Given the description of an element on the screen output the (x, y) to click on. 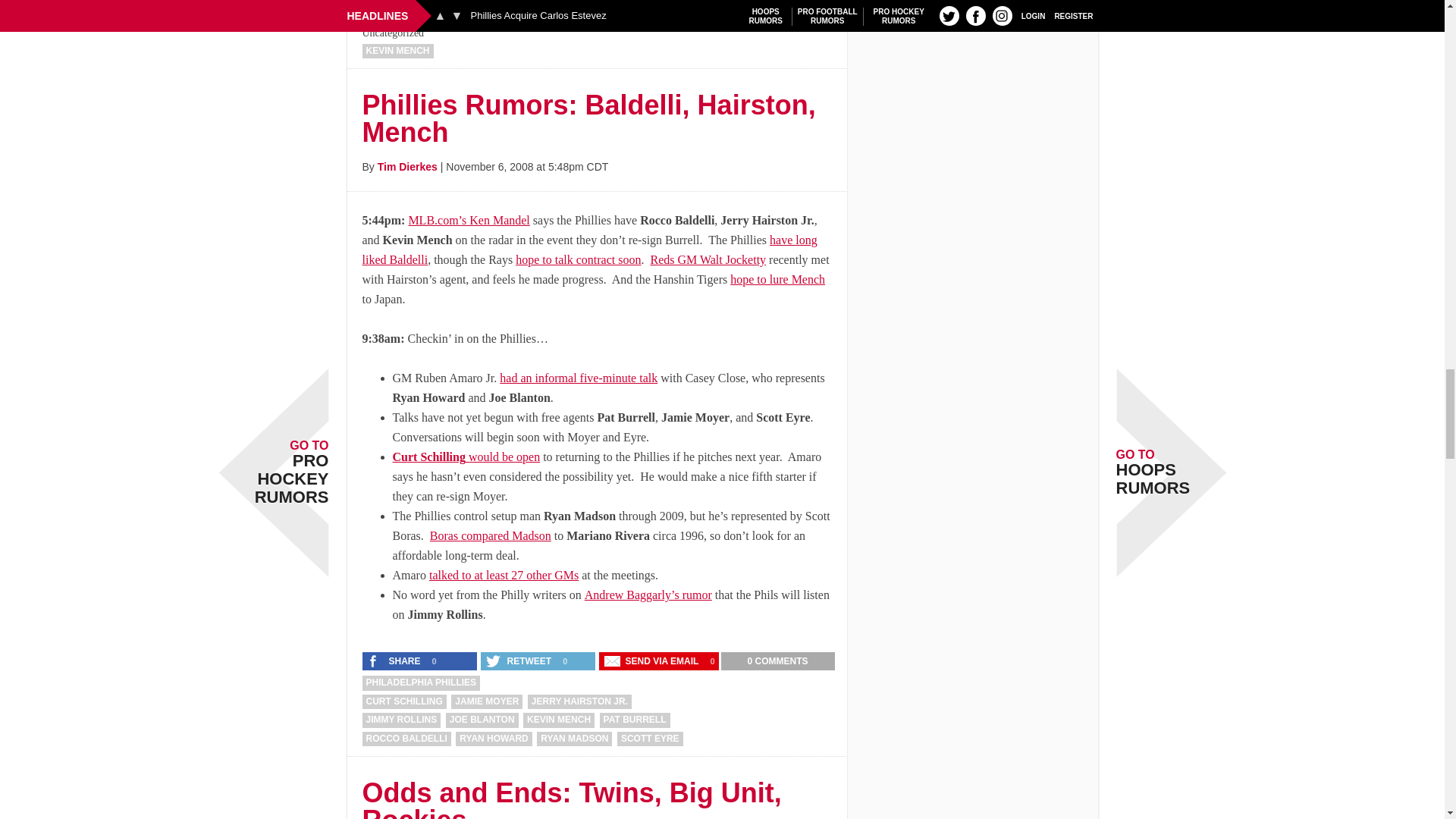
Retweet 'Hanshin Tigers Sign Kevin Mench' on Twitter (519, 12)
Share 'Hanshin Tigers Sign Kevin Mench' on Facebook (395, 12)
Send Hanshin Tigers Sign Kevin Mench with an email (652, 12)
